Given the description of an element on the screen output the (x, y) to click on. 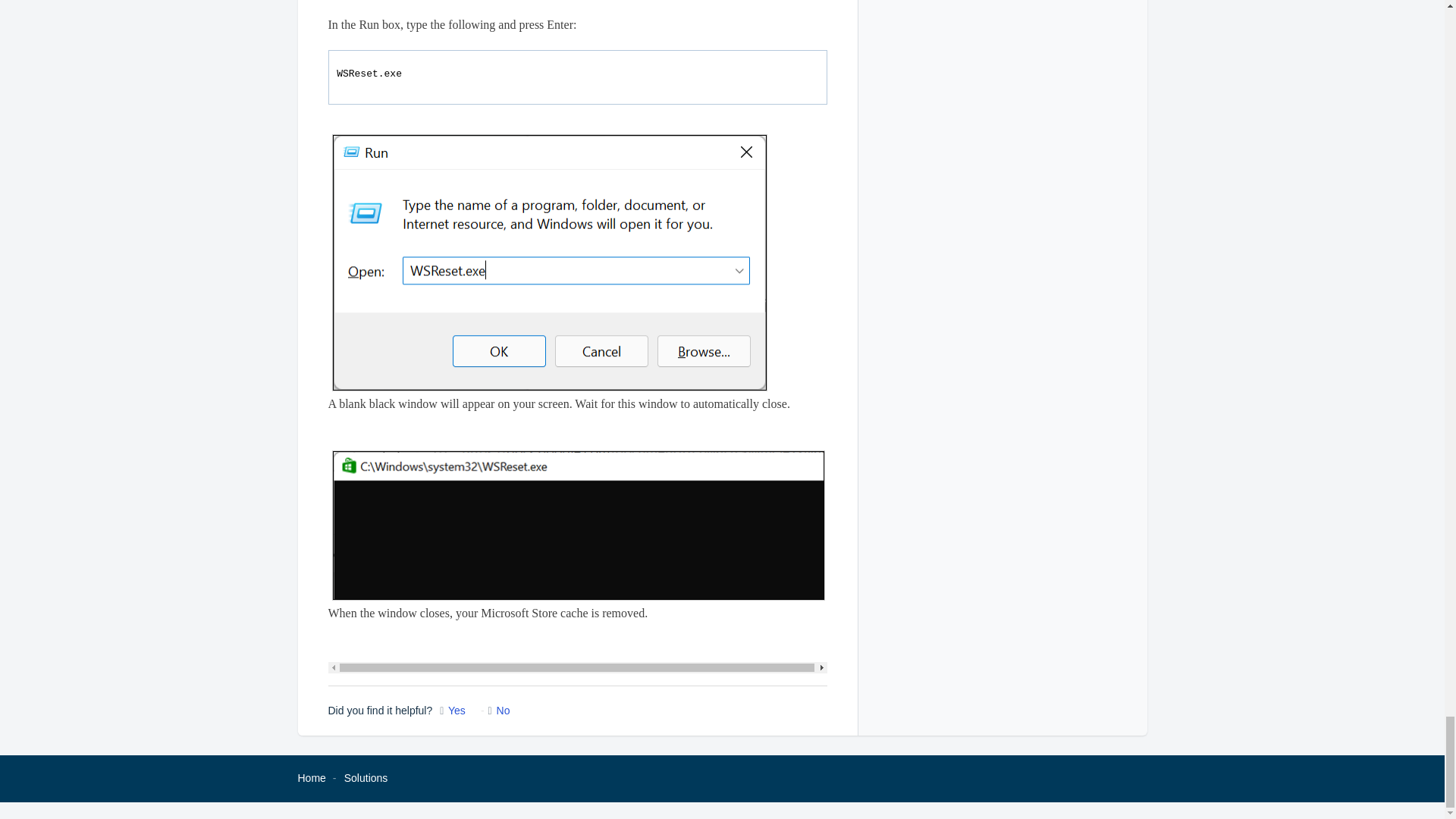
Solutions (365, 777)
Home (310, 777)
